Given the description of an element on the screen output the (x, y) to click on. 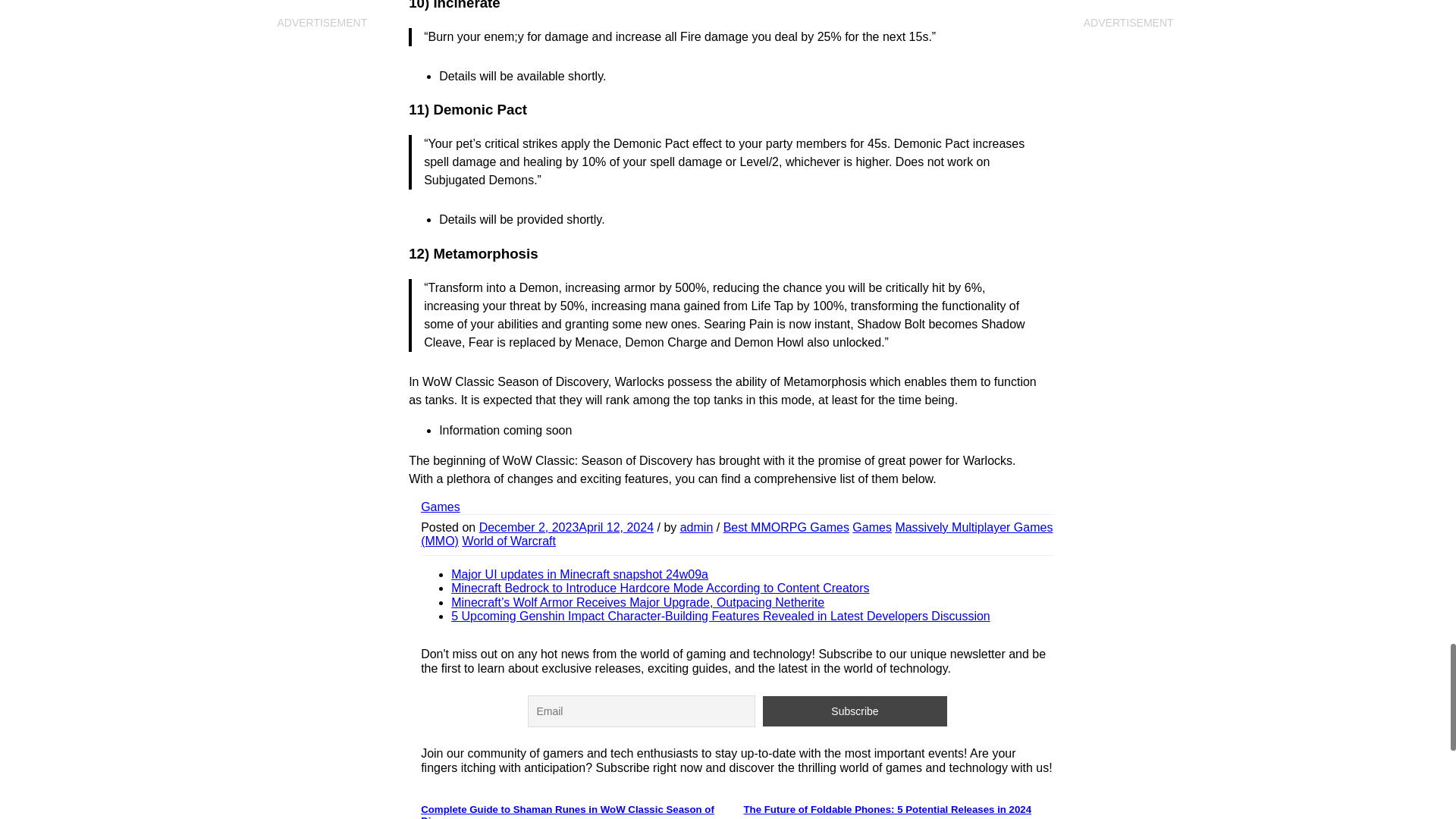
Games (440, 506)
Games (871, 526)
Major UI updates in Minecraft snapshot 24w09a (579, 574)
Best MMORPG Games (785, 526)
Subscribe (854, 711)
admin (696, 526)
December 2, 2023April 12, 2024 (566, 526)
World of Warcraft (508, 540)
